Given the description of an element on the screen output the (x, y) to click on. 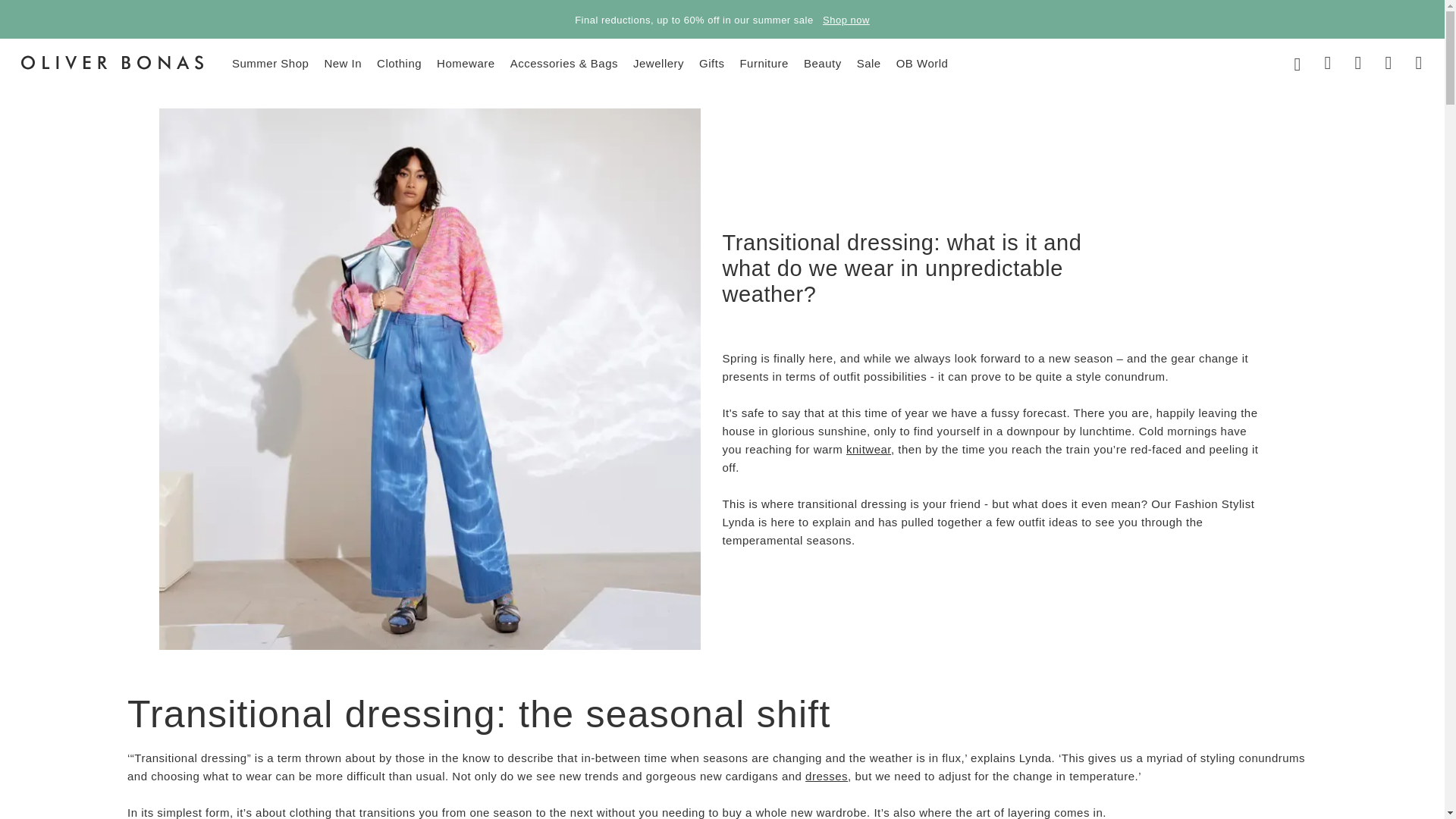
Gifts (710, 60)
Homeware (465, 60)
Sale (868, 60)
New In (342, 60)
OB World (922, 60)
Furniture (764, 60)
Clothing (399, 60)
Shop now (845, 19)
Jewellery (658, 60)
Beauty (822, 60)
